Given the description of an element on the screen output the (x, y) to click on. 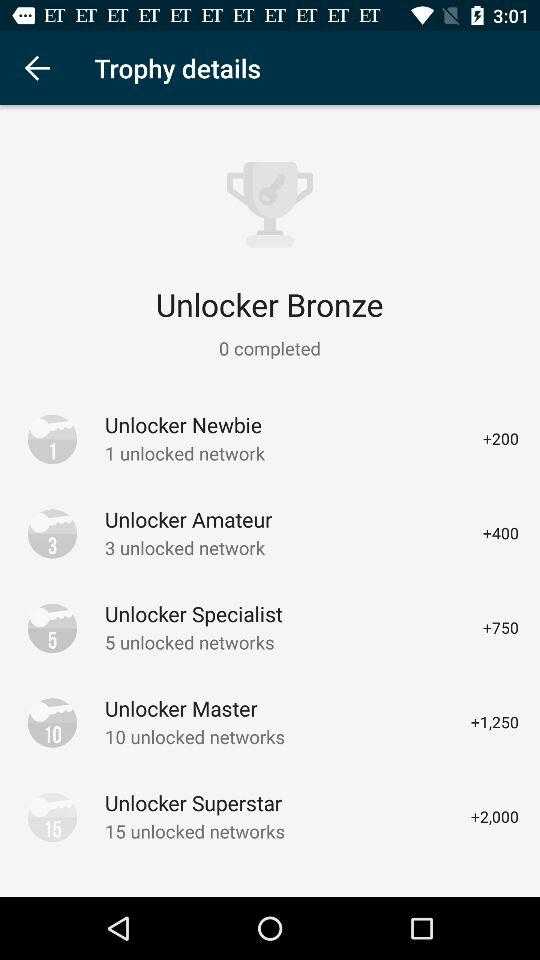
press item next to the trophy details icon (36, 68)
